Given the description of an element on the screen output the (x, y) to click on. 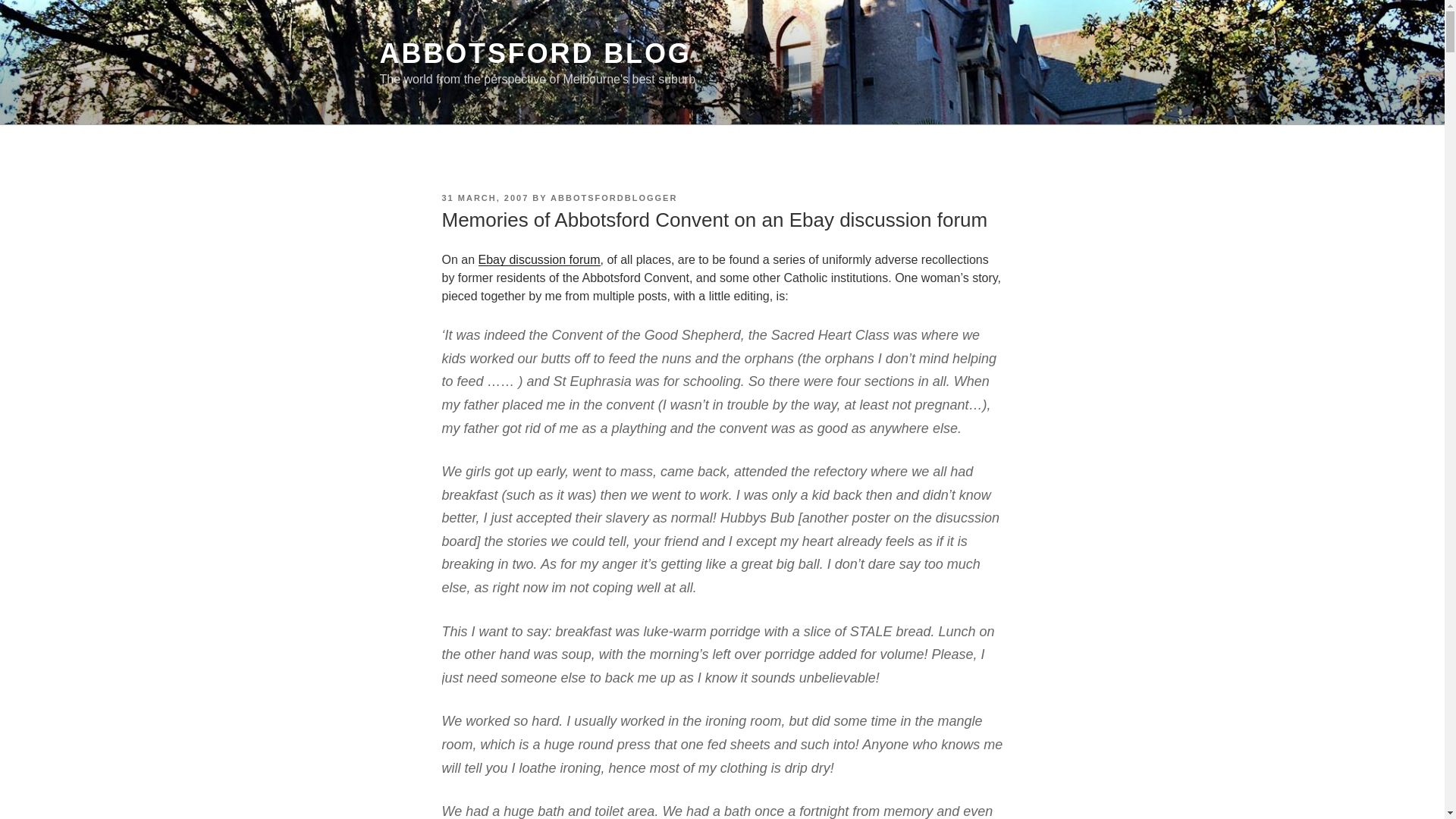
ABBOTSFORD BLOG (534, 52)
31 MARCH, 2007 (484, 197)
ABBOTSFORDBLOGGER (613, 197)
Ebay discussion forum (539, 259)
